Given the description of an element on the screen output the (x, y) to click on. 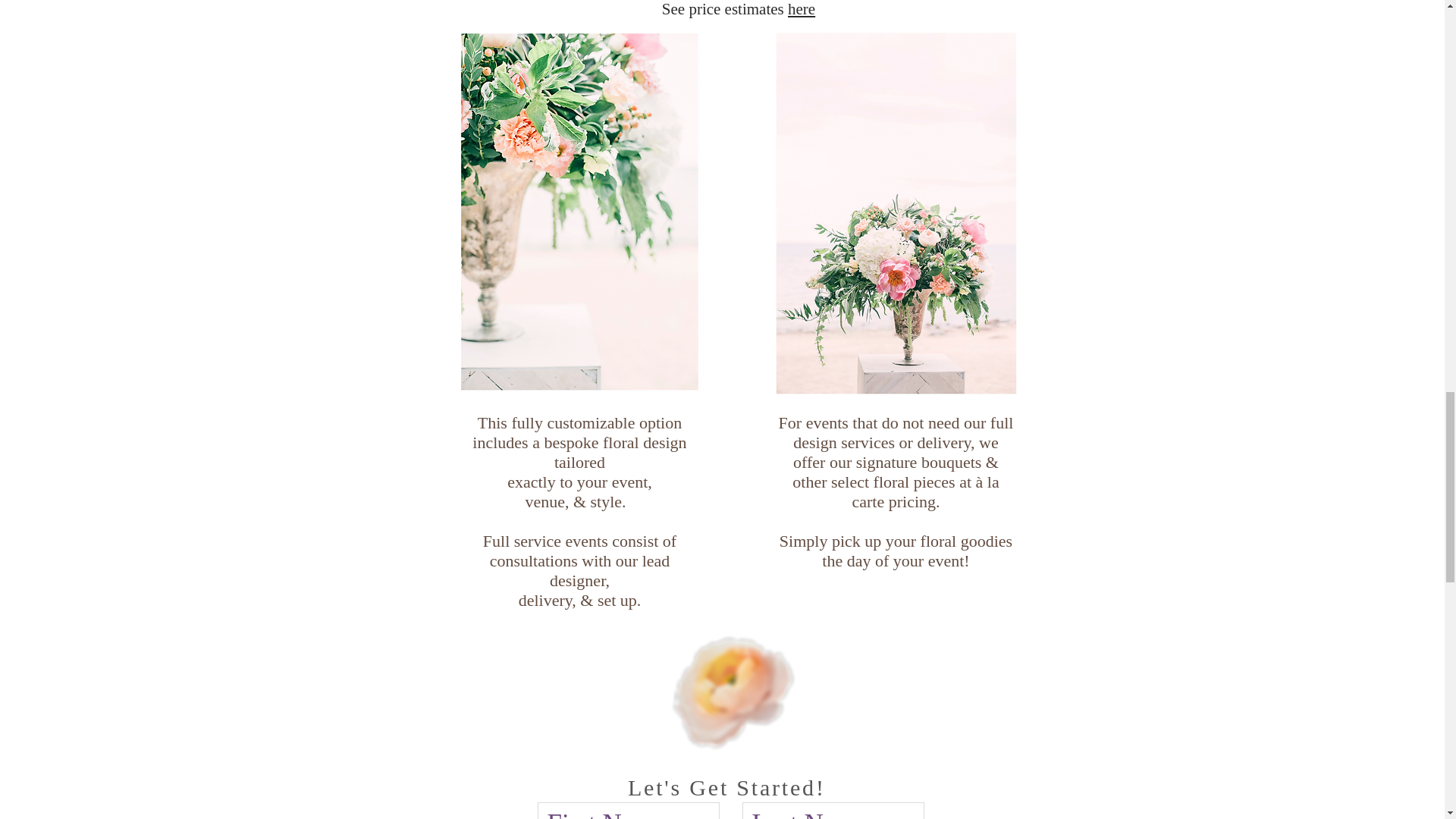
here (801, 9)
